Given the description of an element on the screen output the (x, y) to click on. 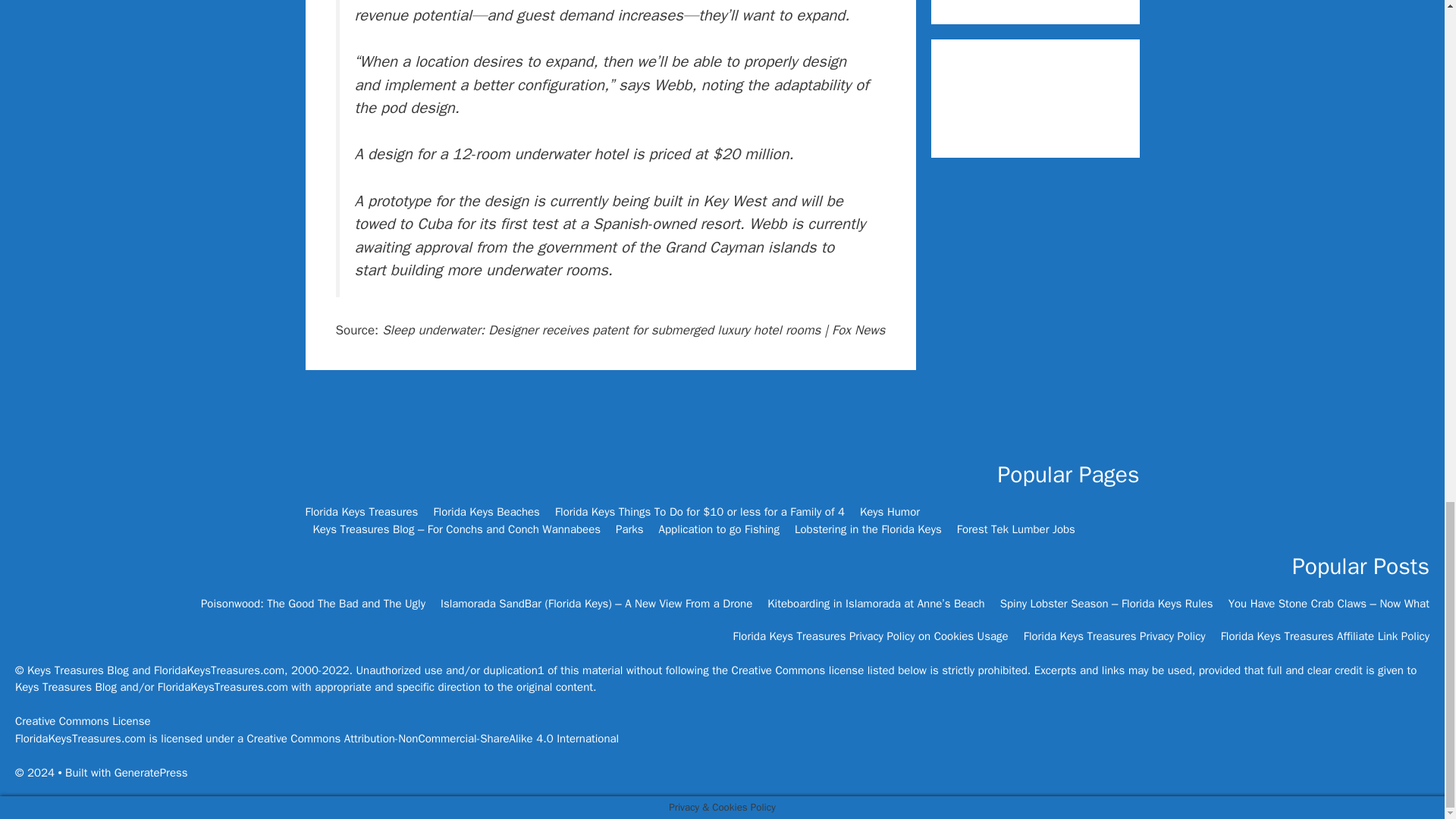
Florida Keys Treasures (360, 511)
GeneratePress (151, 772)
Florida Keys Beaches (486, 511)
Parks (629, 529)
Forest Tek Lumber Jobs (1015, 529)
Florida Keys Treasures Privacy Policy on Cookies Usage (871, 635)
Florida Keys Treasures Privacy Policy (1114, 635)
Scroll back to top (1406, 224)
Florida Keys Treasures Affiliate Link Policy (1325, 635)
Poisonwood: The Good The Bad and The Ugly (312, 603)
